Given the description of an element on the screen output the (x, y) to click on. 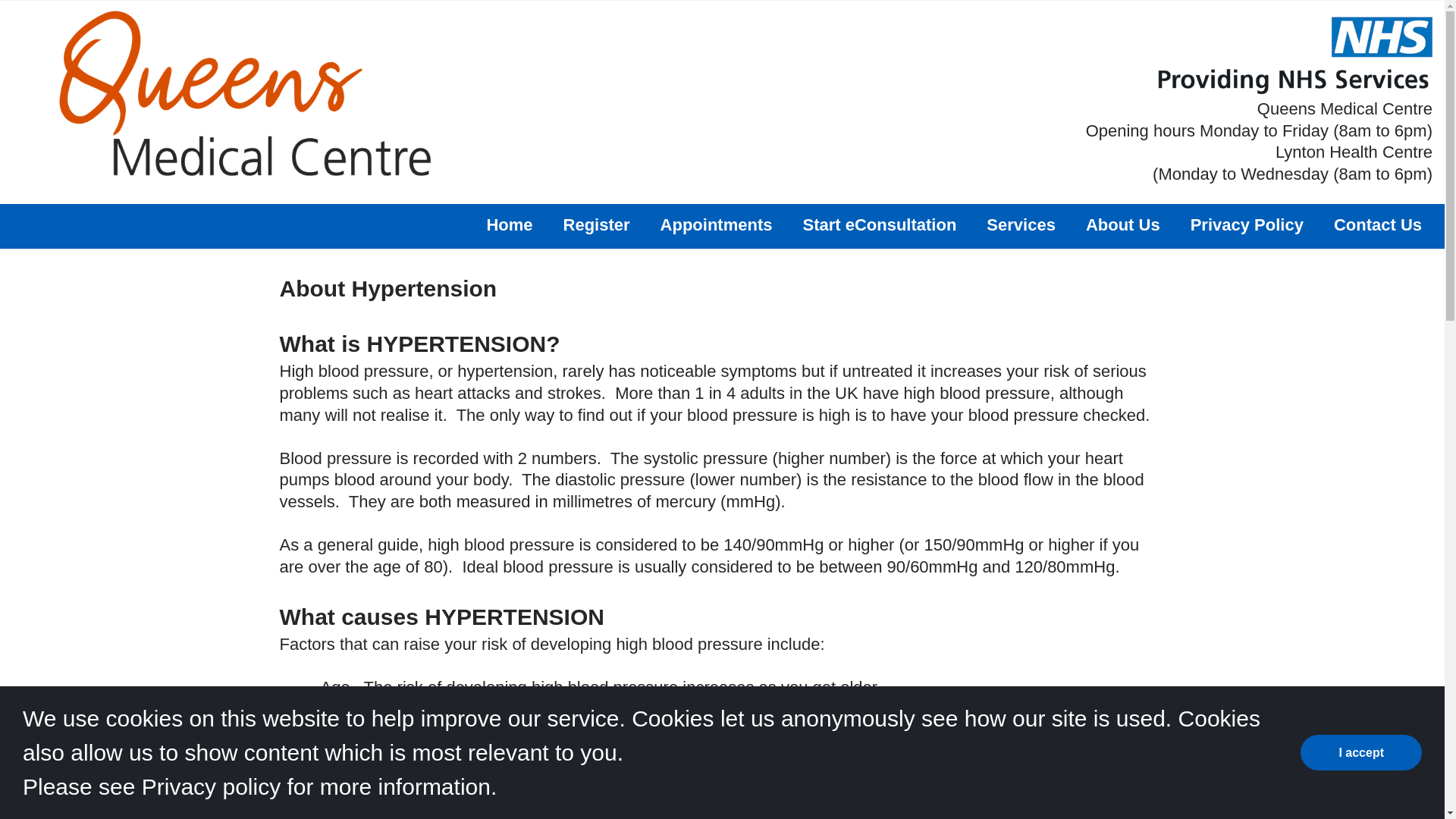
Home (509, 224)
Contact Us (1377, 224)
Appointments (717, 224)
Services (1021, 224)
Register (596, 224)
About Us (1123, 224)
Start eConsultation (879, 224)
Privacy Policy (1247, 224)
Providing NHS Service (1293, 55)
